Given the description of an element on the screen output the (x, y) to click on. 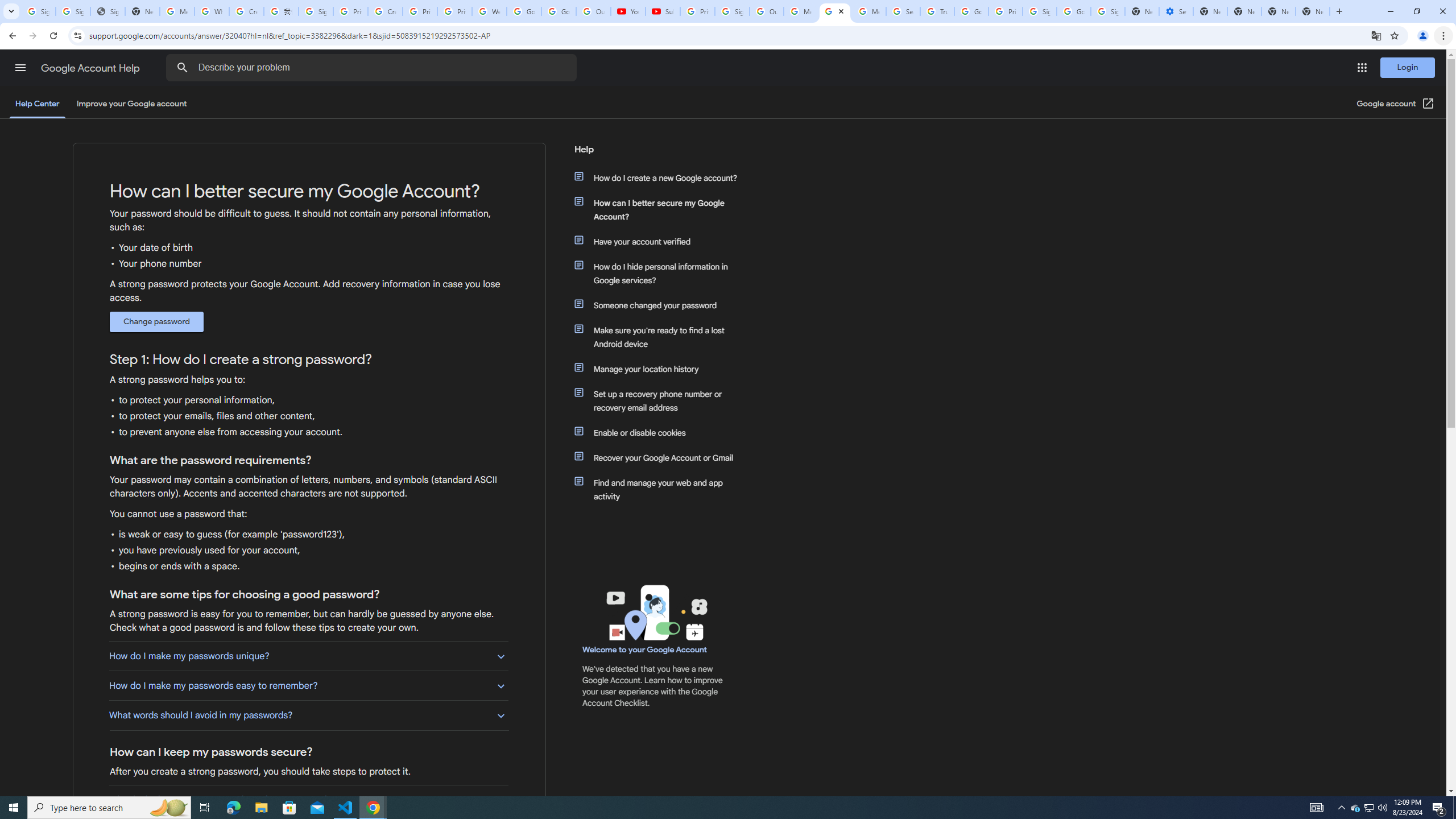
Change password (156, 322)
